Given the description of an element on the screen output the (x, y) to click on. 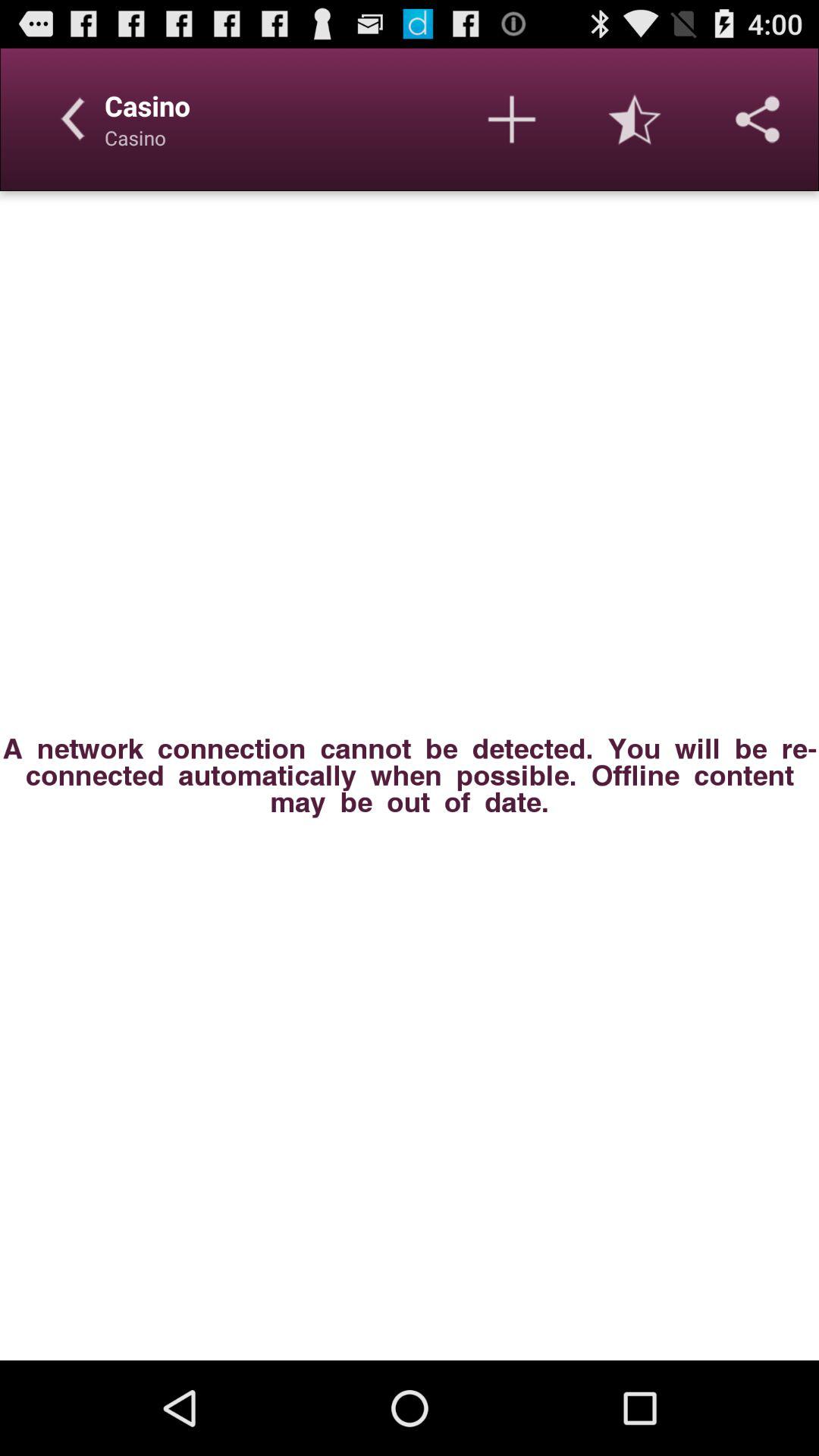
tap the item above the a network connection icon (511, 119)
